Given the description of an element on the screen output the (x, y) to click on. 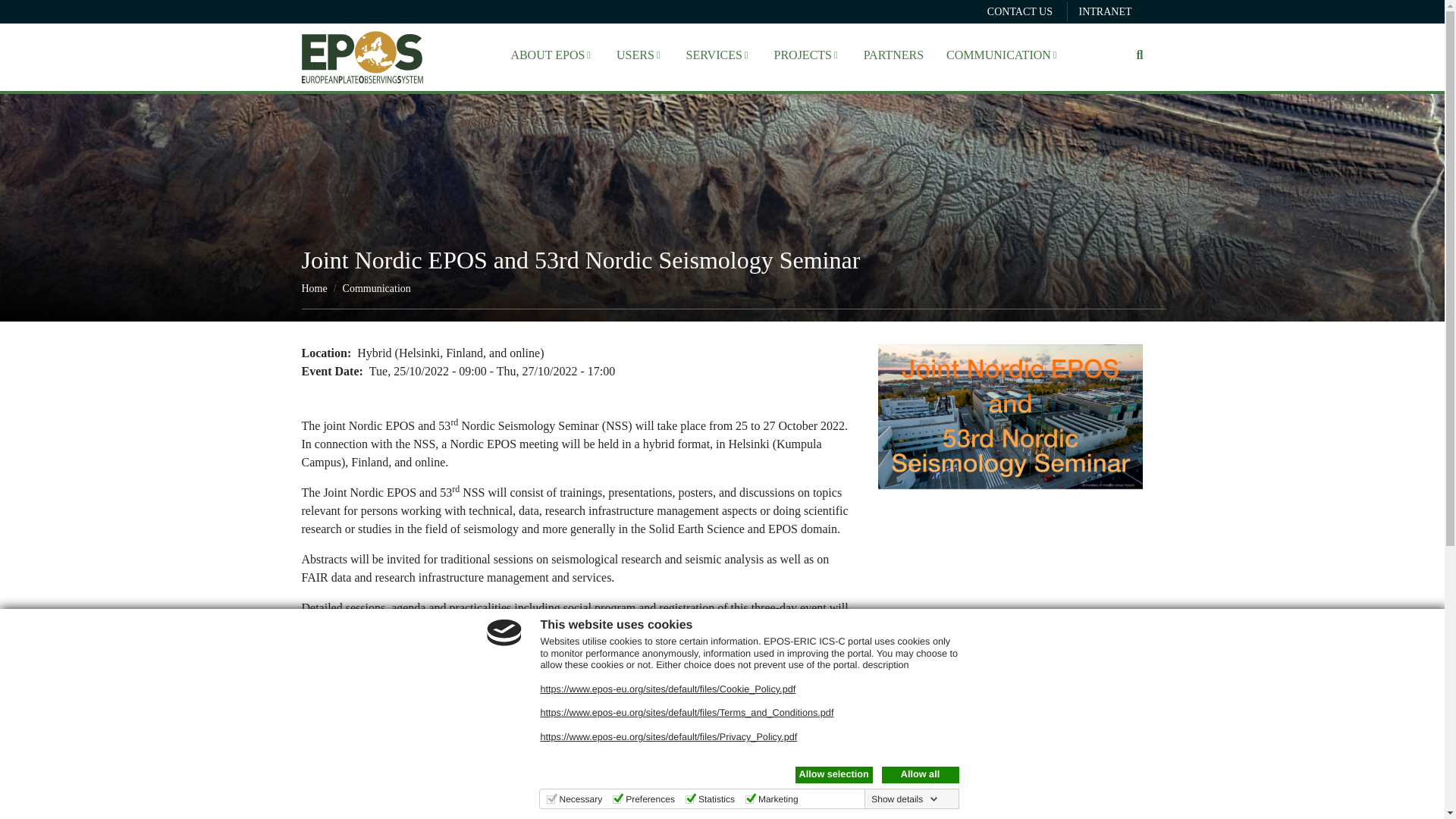
Allow all (919, 774)
Allow selection (833, 774)
Show details (903, 799)
